Given the description of an element on the screen output the (x, y) to click on. 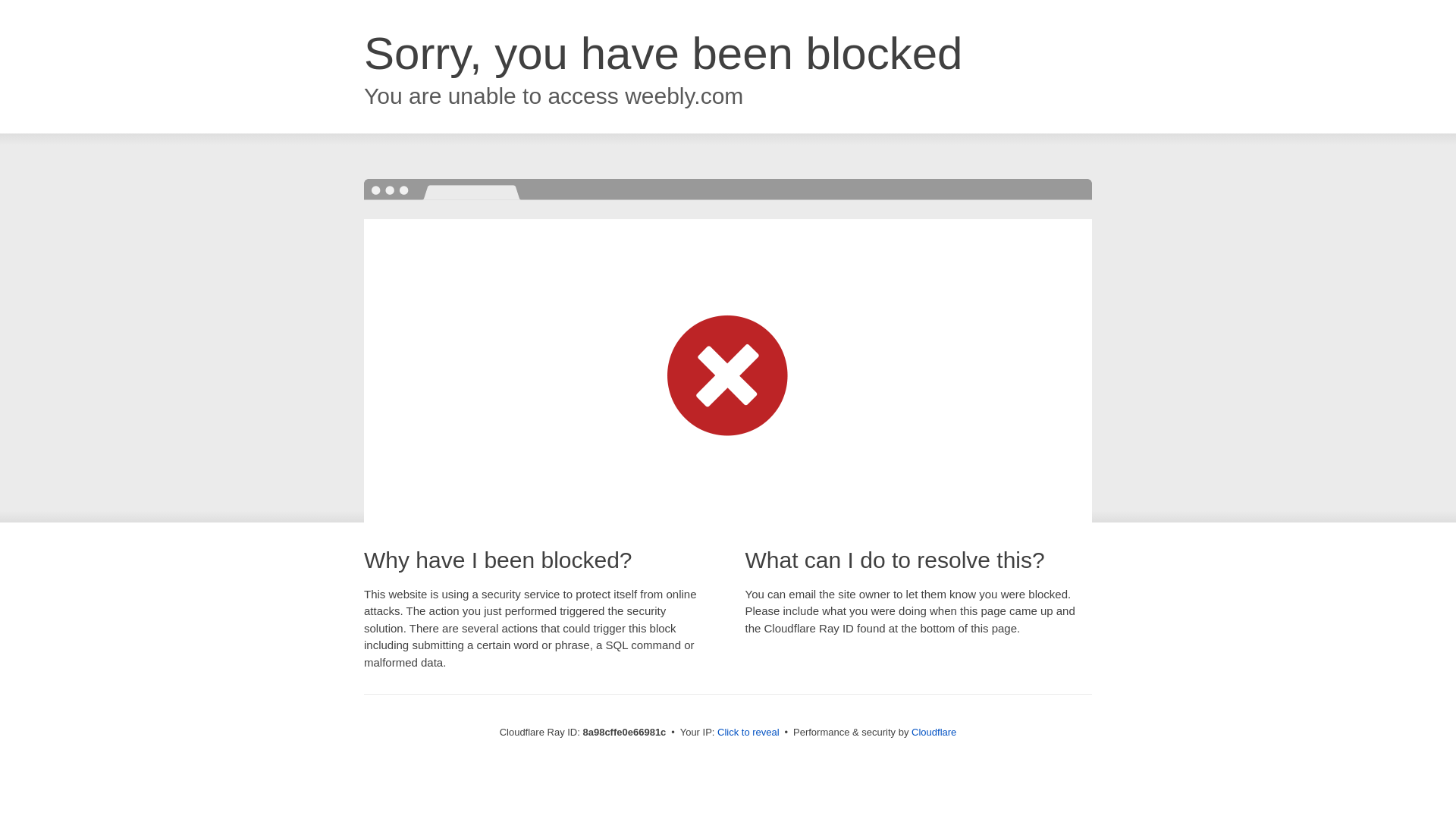
Cloudflare (933, 731)
Click to reveal (747, 732)
